Given the description of an element on the screen output the (x, y) to click on. 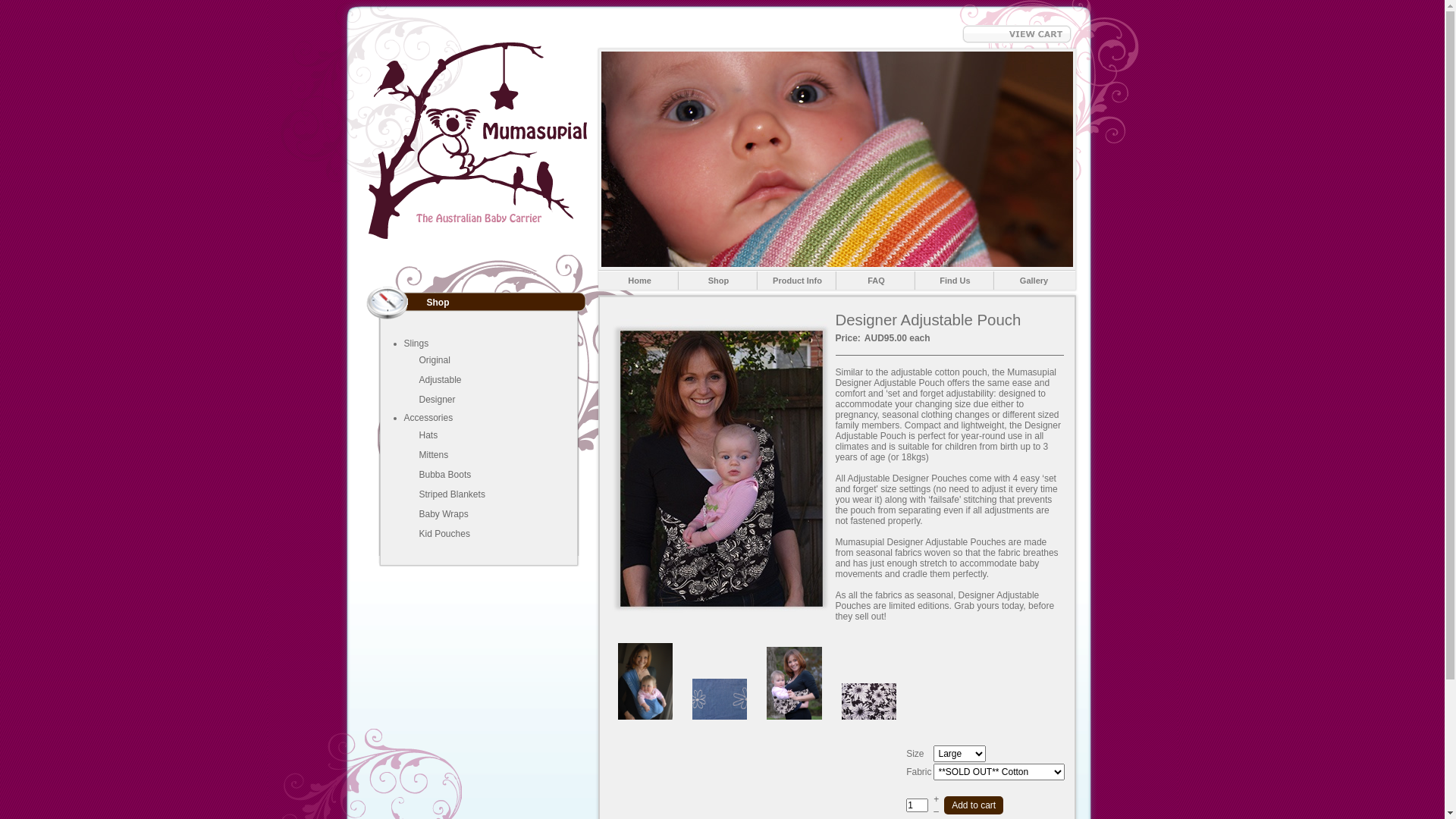
Find Us Element type: text (954, 282)
Shop Element type: text (717, 282)
Adjustable Element type: text (439, 379)
Cotton Baby Pouch Element type: hover (644, 681)
+ Element type: text (935, 798)
Black Daisy Baby Pouch Element type: hover (793, 683)
Home Element type: text (638, 282)
Add to cart Element type: text (973, 805)
Kid Pouches Element type: text (443, 533)
Slings Element type: text (415, 343)
Original Element type: text (433, 359)
Accessories Element type: text (427, 417)
Mittens Element type: text (433, 454)
Hats Element type: text (427, 434)
View Cart Element type: hover (1015, 39)
Black Daisy Baby Pouch Element type: hover (868, 701)
Bubba Boots Element type: text (444, 474)
Striped Blankets Element type: text (451, 494)
FAQ Element type: text (875, 282)
Baby Wraps Element type: text (442, 513)
Product Info Element type: text (796, 282)
Cotton Baby Pouch Element type: hover (719, 698)
Designer Element type: text (436, 399)
Gallery Element type: text (1033, 282)
